Given the description of an element on the screen output the (x, y) to click on. 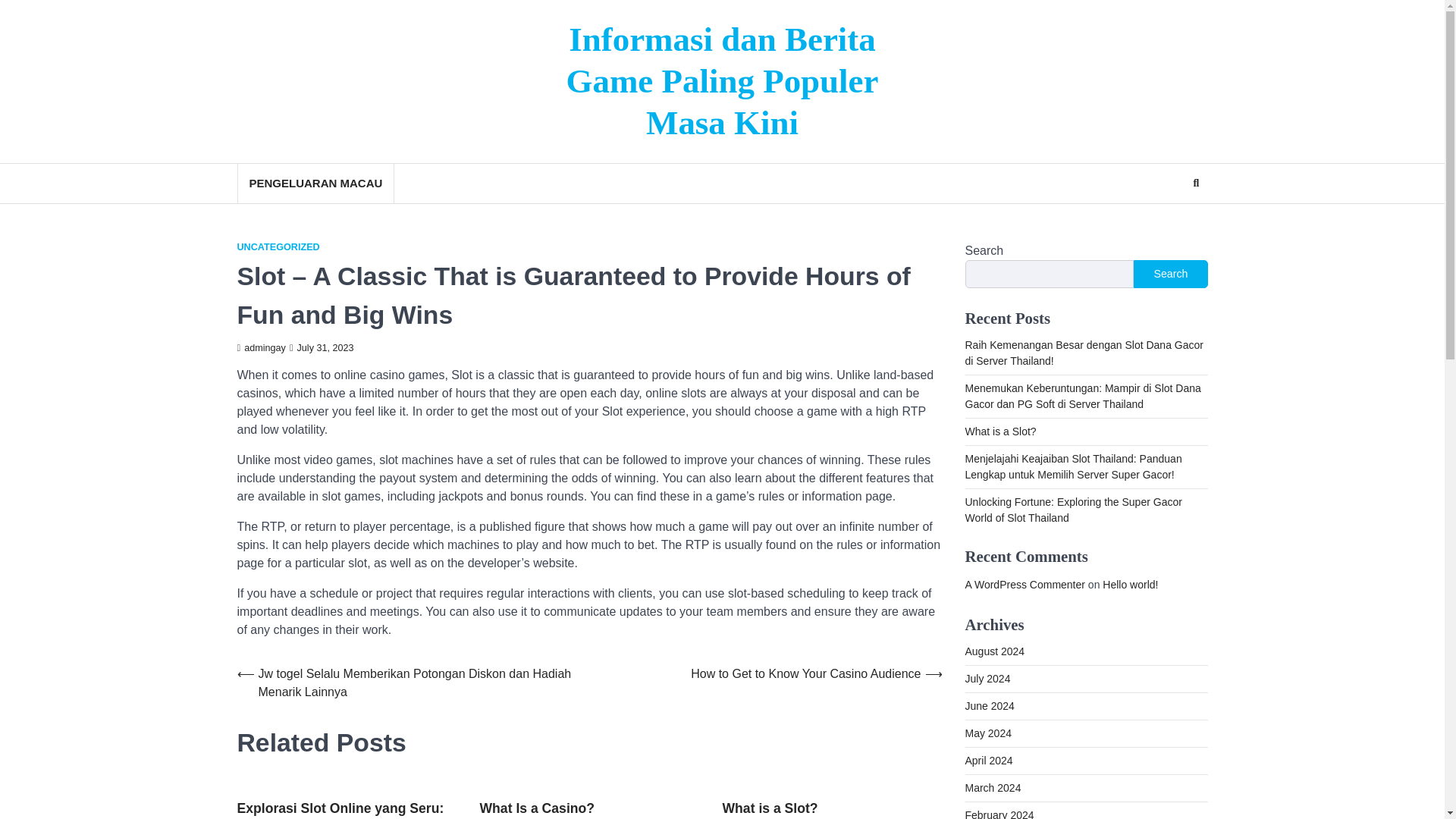
May 2024 (986, 733)
July 31, 2023 (321, 347)
PENGELUARAN MACAU (314, 183)
March 2024 (991, 787)
July 2024 (986, 678)
Search (1196, 182)
Search (1168, 219)
What Is a Casino? (536, 808)
